Given the description of an element on the screen output the (x, y) to click on. 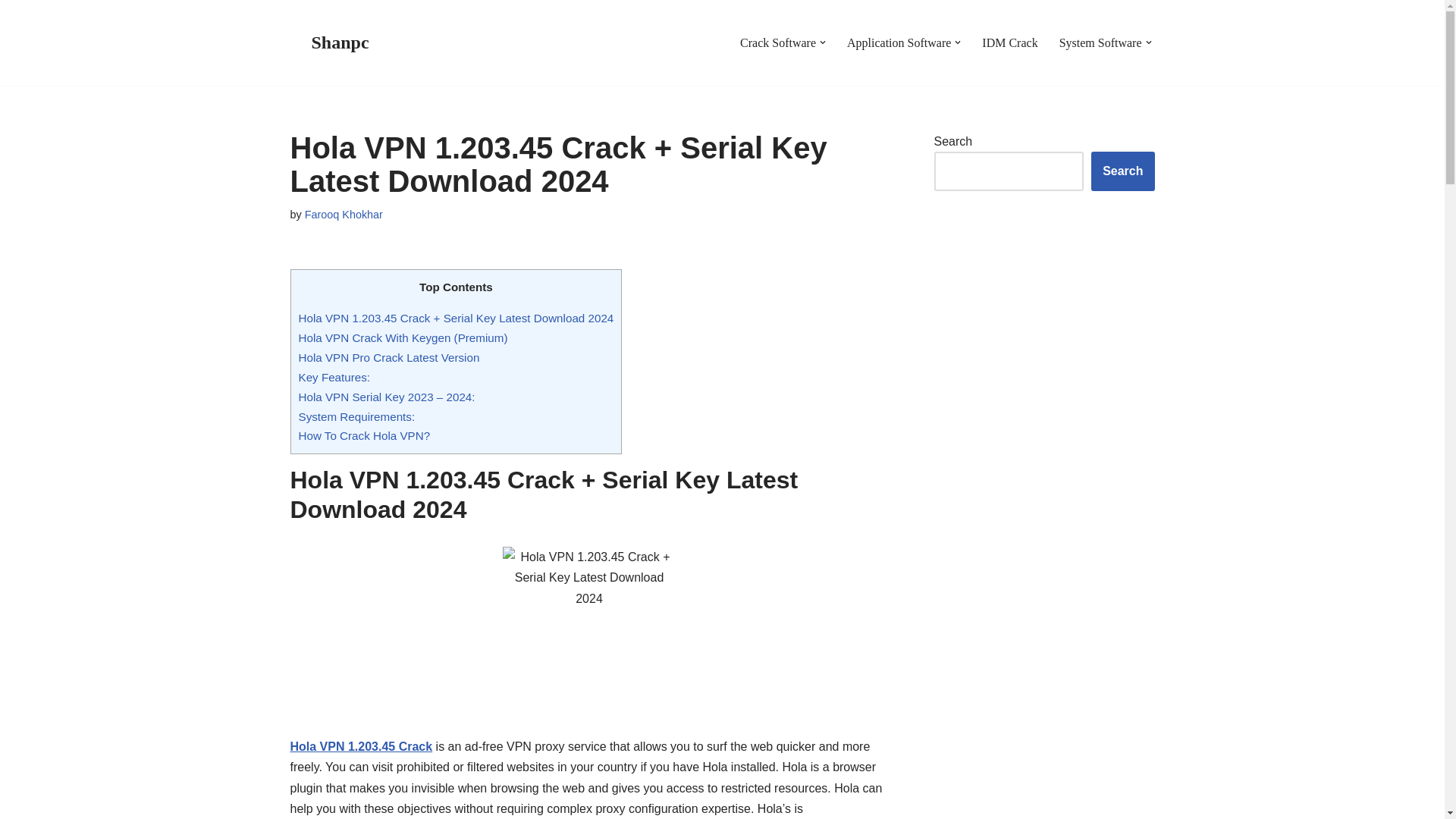
Crack Software (777, 42)
Application Software (898, 42)
Skip to content (11, 31)
IDM Crack (1008, 42)
System Software (1100, 42)
Posts by Farooq Khokhar (343, 214)
